Given the description of an element on the screen output the (x, y) to click on. 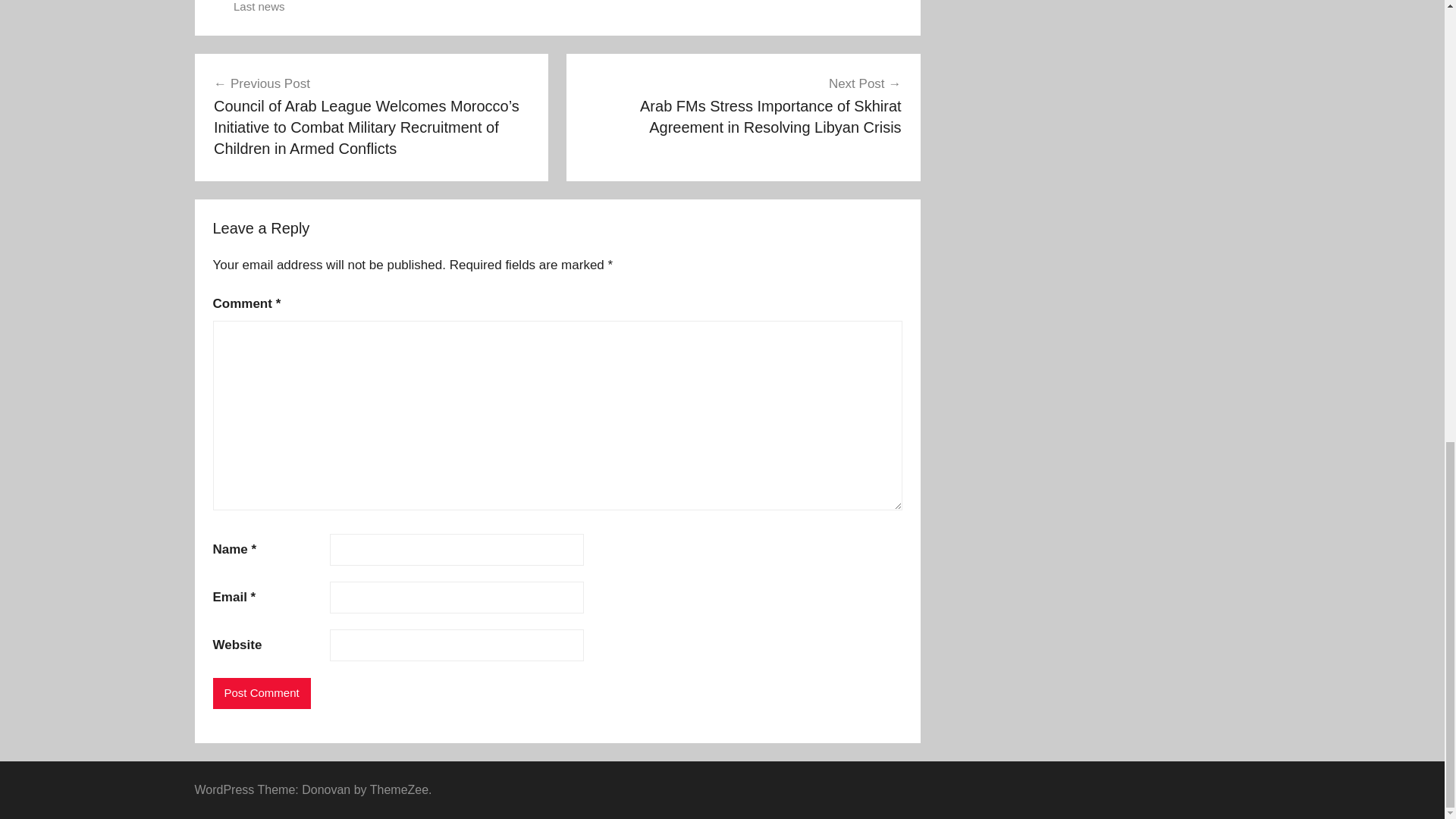
Post Comment (261, 693)
Post Comment (261, 693)
Last news (258, 6)
